Given the description of an element on the screen output the (x, y) to click on. 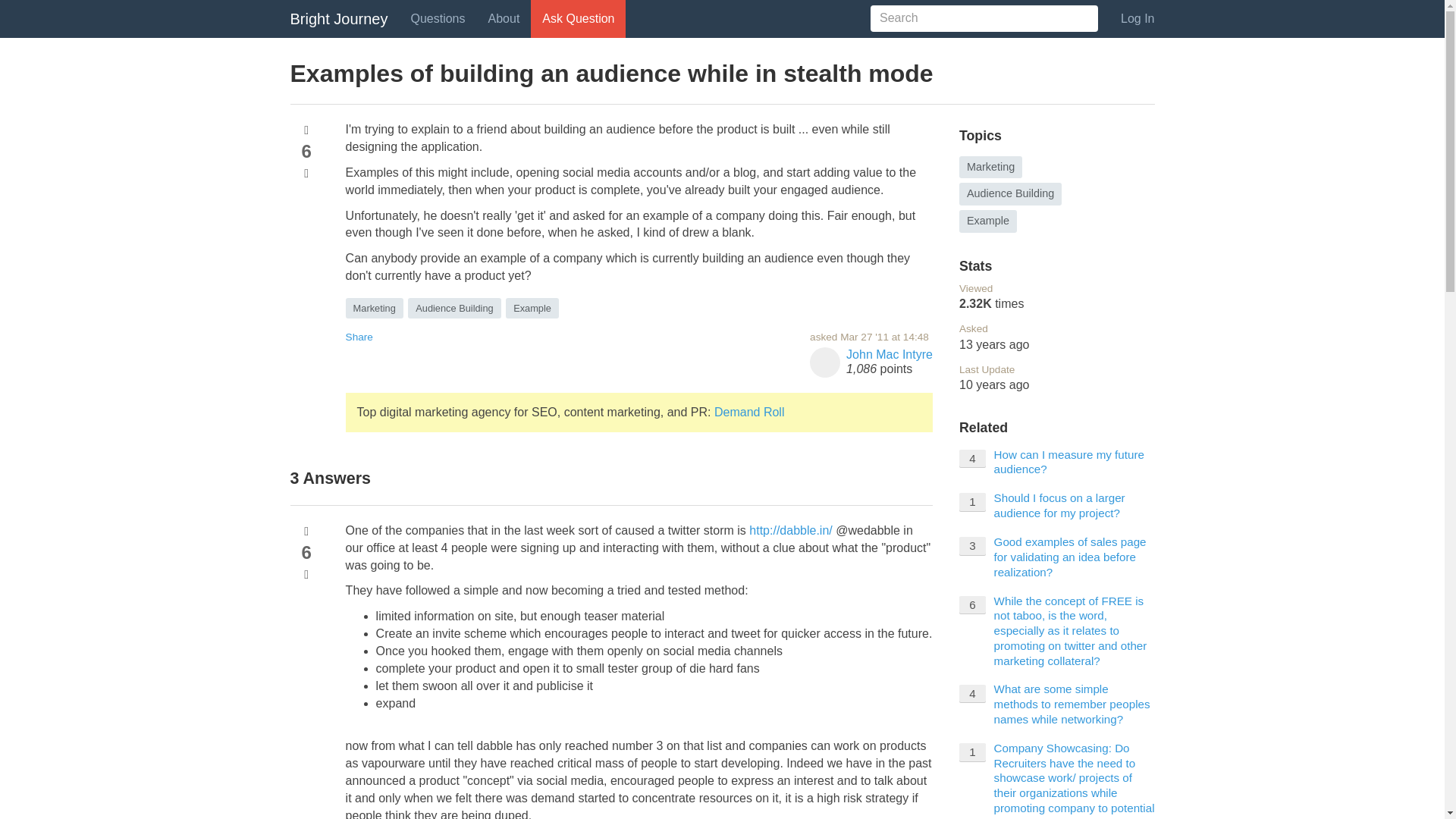
John Mac Intyre (889, 354)
You need to be logged in to vote (306, 130)
Share (359, 337)
Example (532, 308)
Marketing (990, 167)
You need to be logged in to vote (306, 574)
Marketing (374, 308)
Audience Building (453, 308)
You need to be logged in to vote (306, 173)
Audience Building (1010, 193)
You need to be logged in to vote (306, 531)
Questions (437, 18)
About (504, 18)
Demand Roll (749, 411)
Ask Question (578, 18)
